Given the description of an element on the screen output the (x, y) to click on. 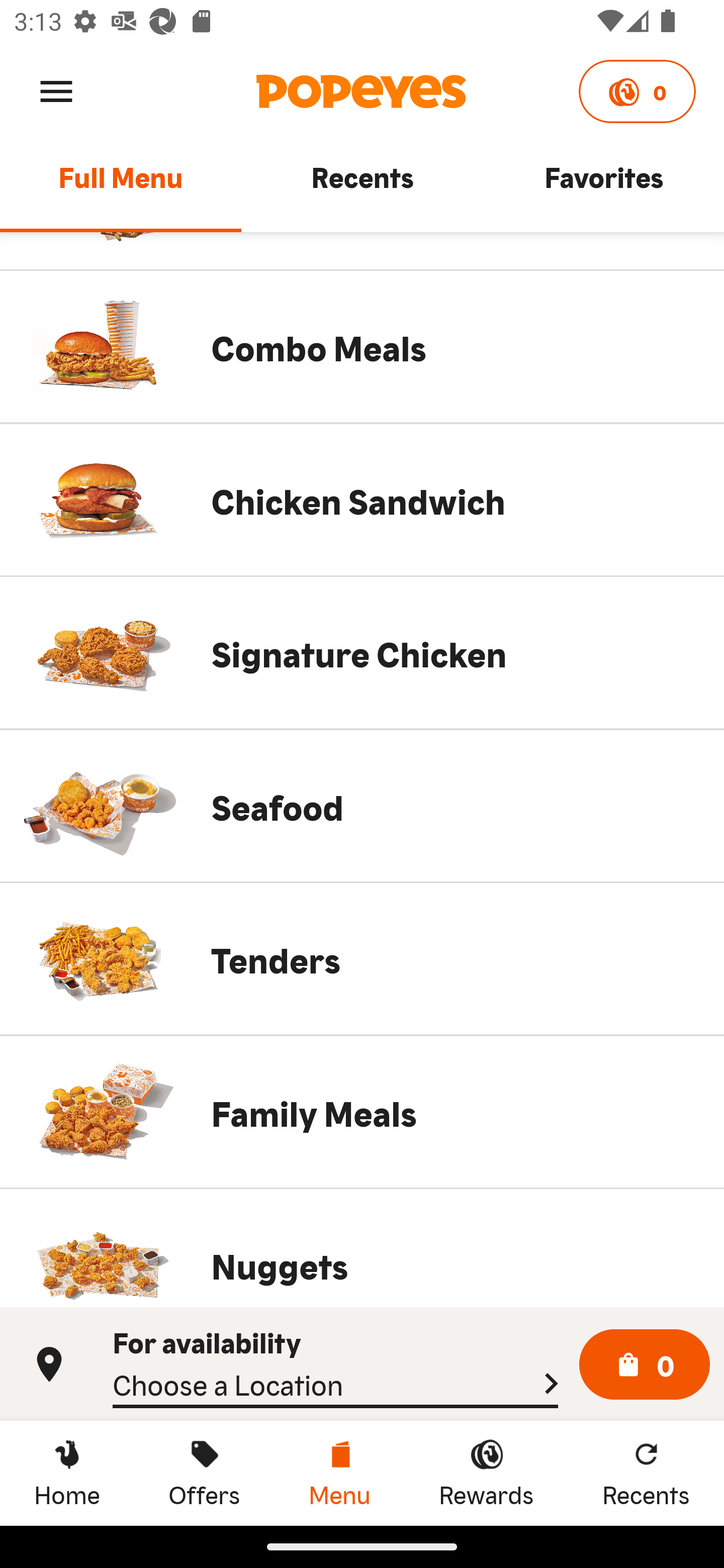
Menu  (56, 90)
0 Points 0 (636, 91)
Full Menu (120, 186)
Recents (361, 186)
Favorites (603, 186)
Seafood, Seafood Seafood Seafood (362, 805)
Chicken Tenders, Tenders Chicken Tenders Tenders (362, 958)
Nuggets, Nuggets Nuggets Nuggets (362, 1247)
0 Cart total  0 (644, 1364)
Home Home Home (66, 1472)
Offers Offers Offers (203, 1472)
Menu, current page Menu Menu, current page (339, 1472)
Rewards Rewards Rewards (486, 1472)
Recents Recents Recents (646, 1472)
